Given the description of an element on the screen output the (x, y) to click on. 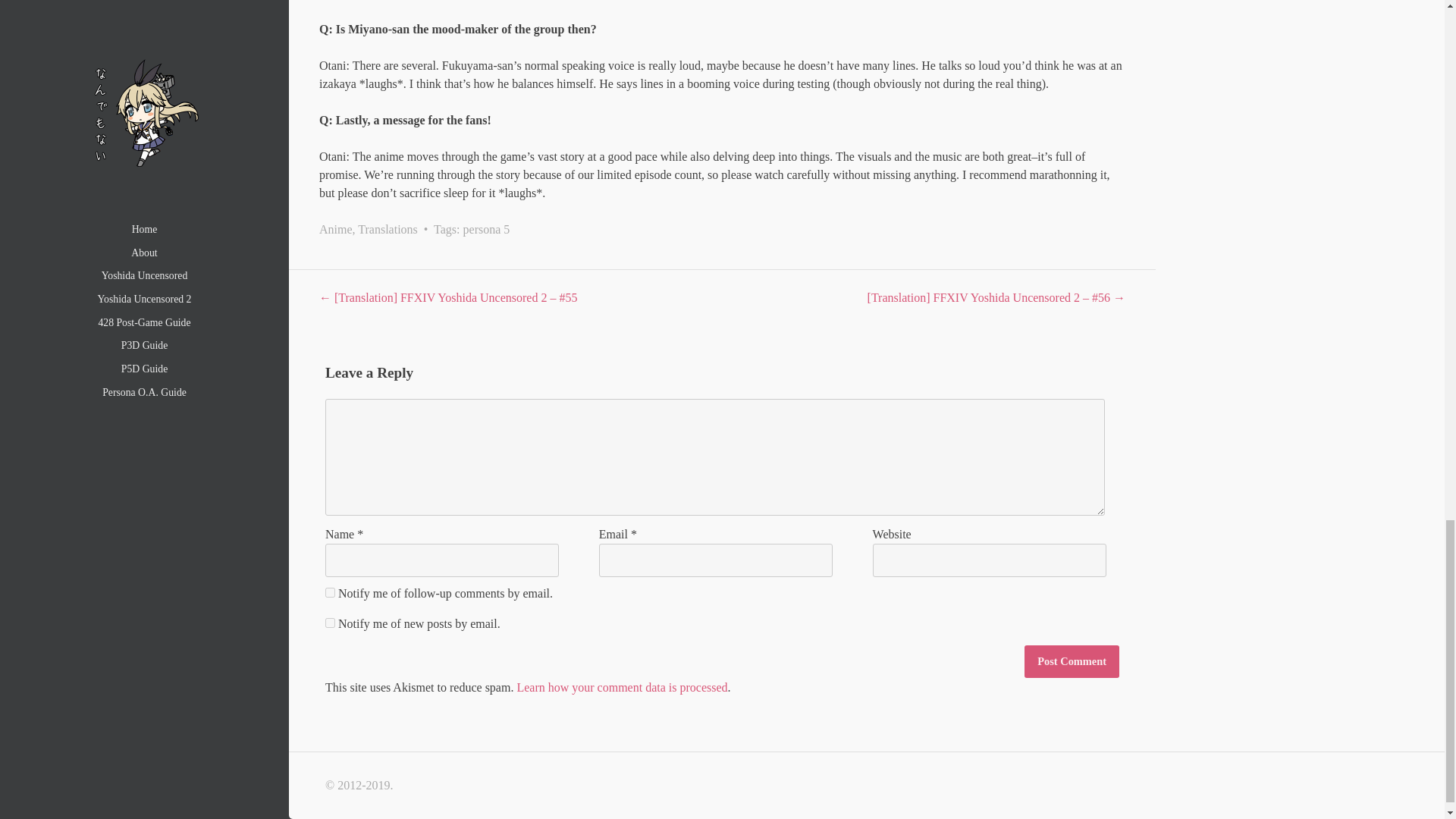
persona 5 (487, 228)
Post Comment (1072, 661)
Post Comment (1072, 661)
subscribe (329, 592)
Learn how your comment data is processed (621, 686)
subscribe (329, 623)
Anime (335, 228)
Translations (387, 228)
